Given the description of an element on the screen output the (x, y) to click on. 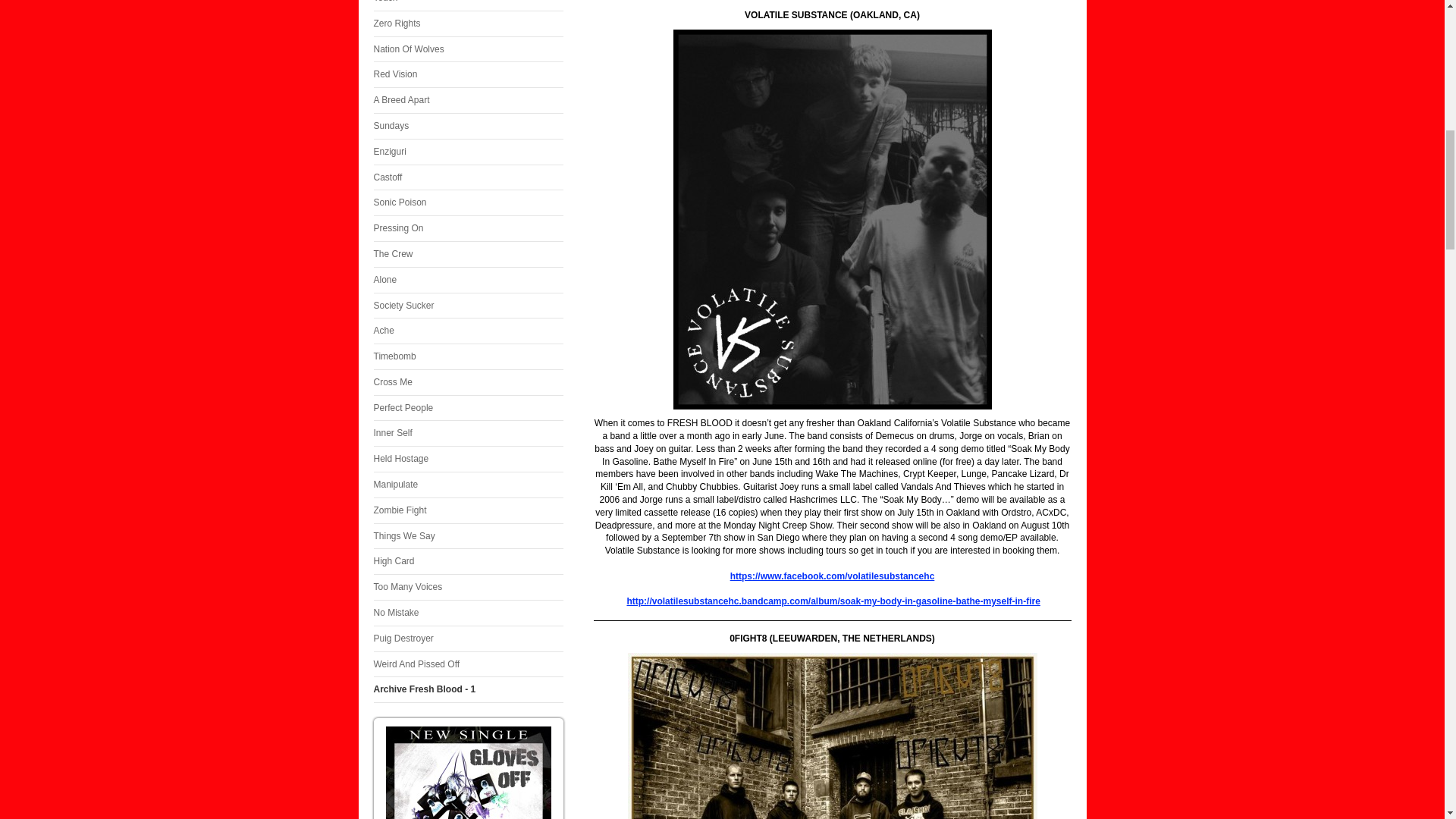
Touch (467, 5)
Sundays (467, 126)
Zero Rights (467, 23)
A Breed Apart (467, 99)
Nation Of Wolves (467, 49)
Red Vision (467, 74)
